Given the description of an element on the screen output the (x, y) to click on. 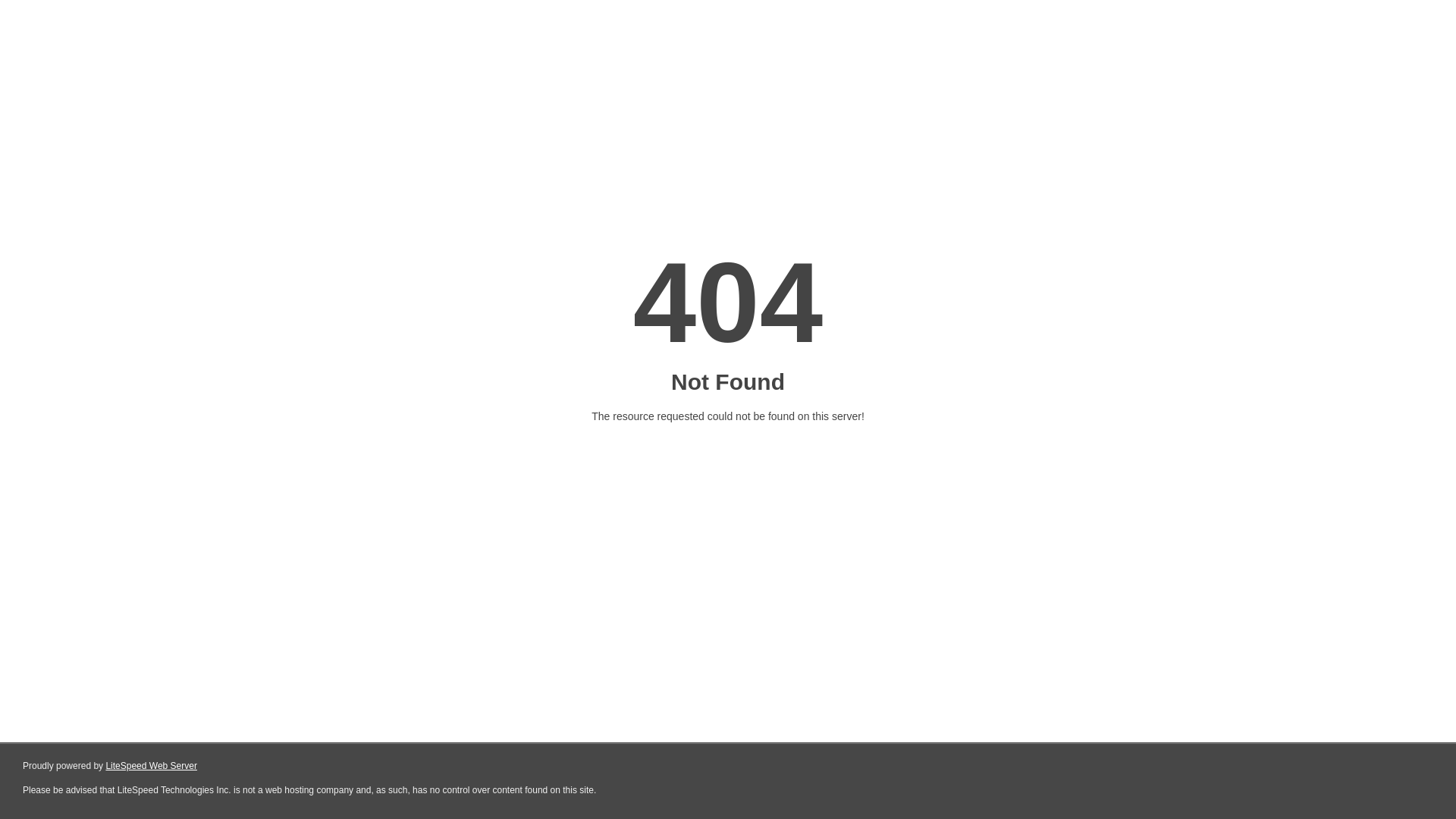
LiteSpeed Web Server Element type: text (151, 765)
